Given the description of an element on the screen output the (x, y) to click on. 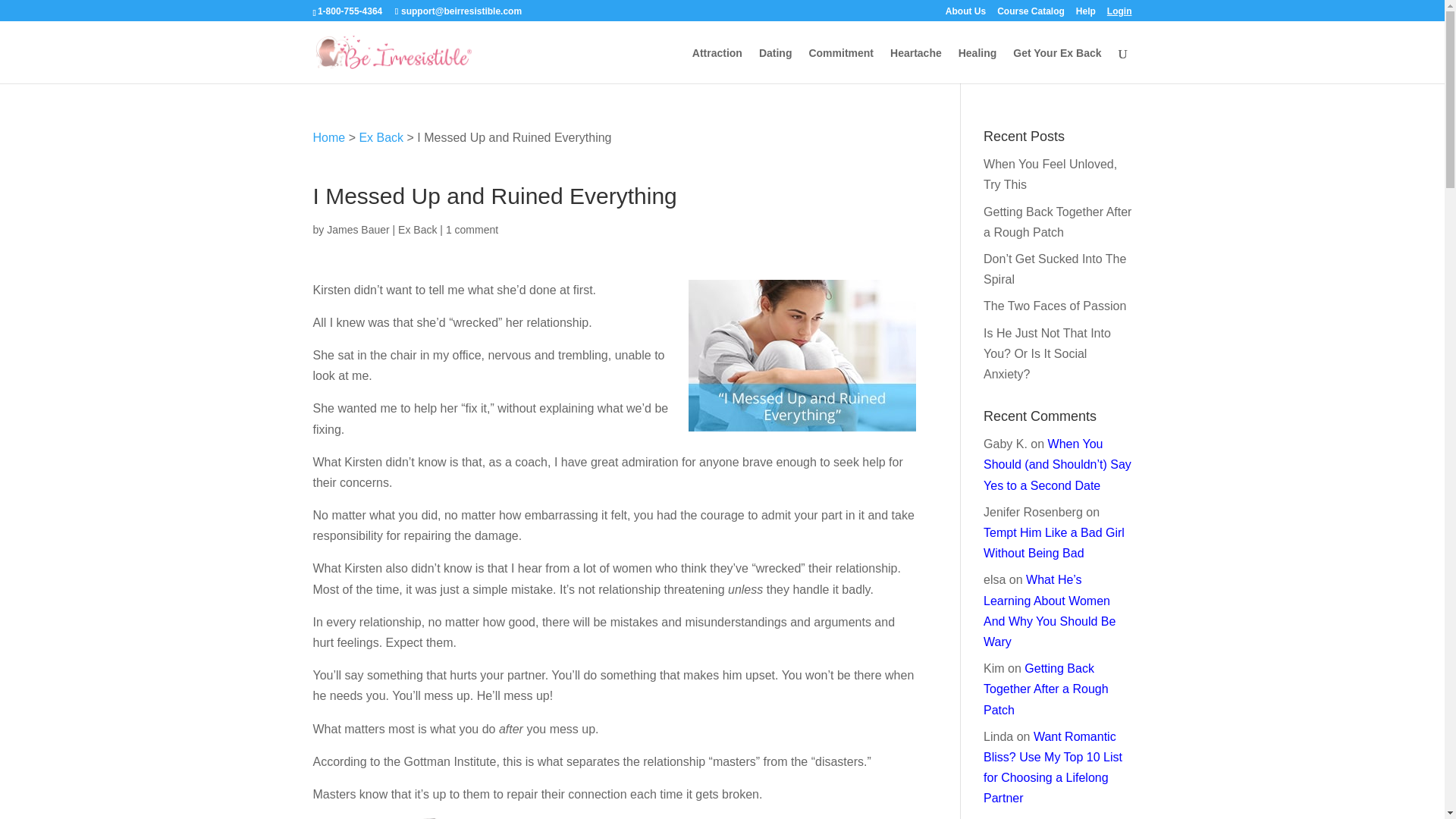
Heartache (915, 65)
Dating (775, 65)
About Us (964, 14)
Dating (775, 65)
Home (329, 137)
Getting Back Together After a Rough Patch (1057, 222)
Posts by James Bauer (357, 229)
Login (1119, 14)
Commitment (840, 65)
Ex Back (380, 137)
James Bauer (357, 229)
Course Catalog (1030, 14)
Commitment (840, 65)
Healing (977, 65)
Help (1085, 14)
